Given the description of an element on the screen output the (x, y) to click on. 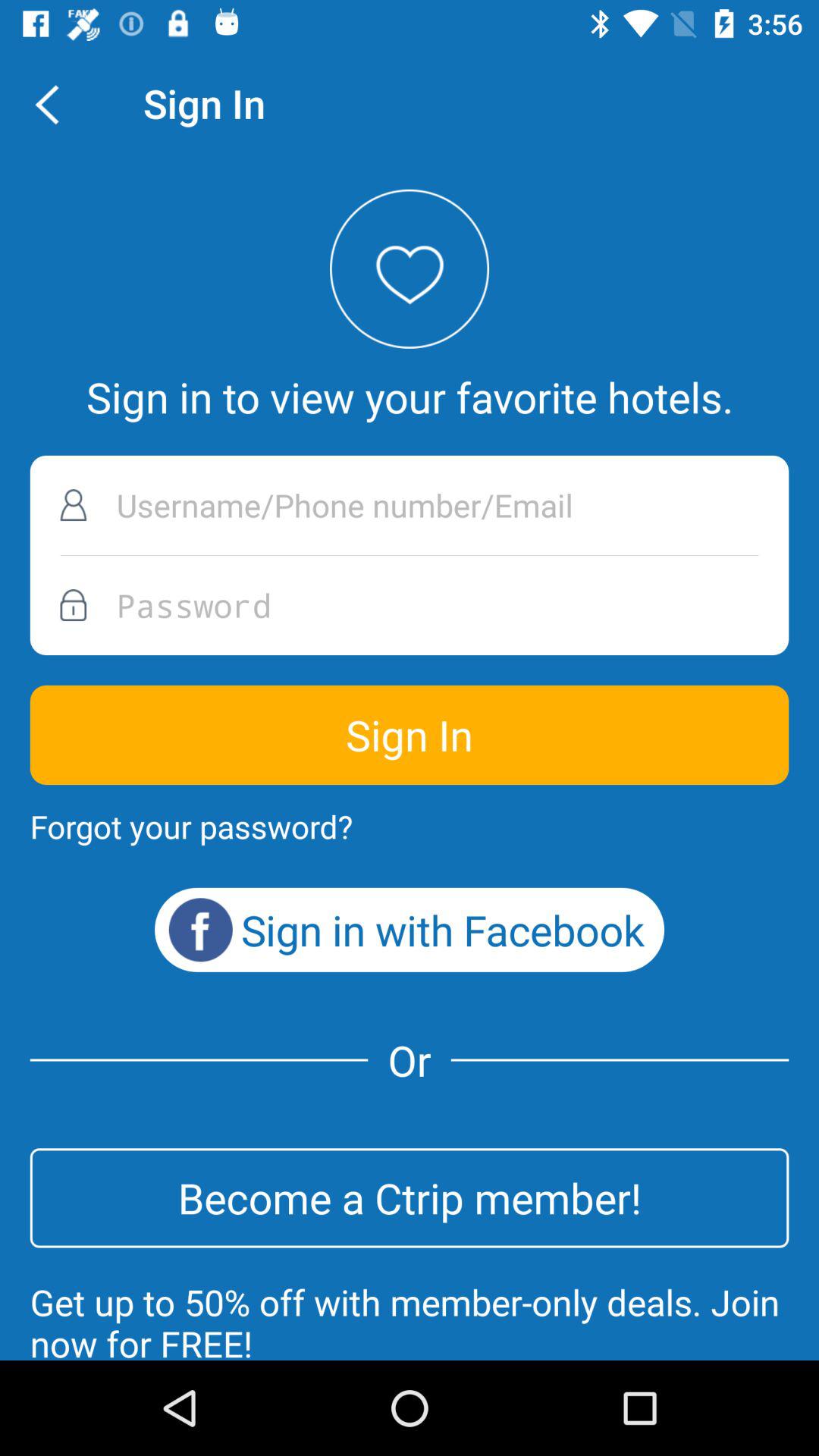
field for password (409, 605)
